Given the description of an element on the screen output the (x, y) to click on. 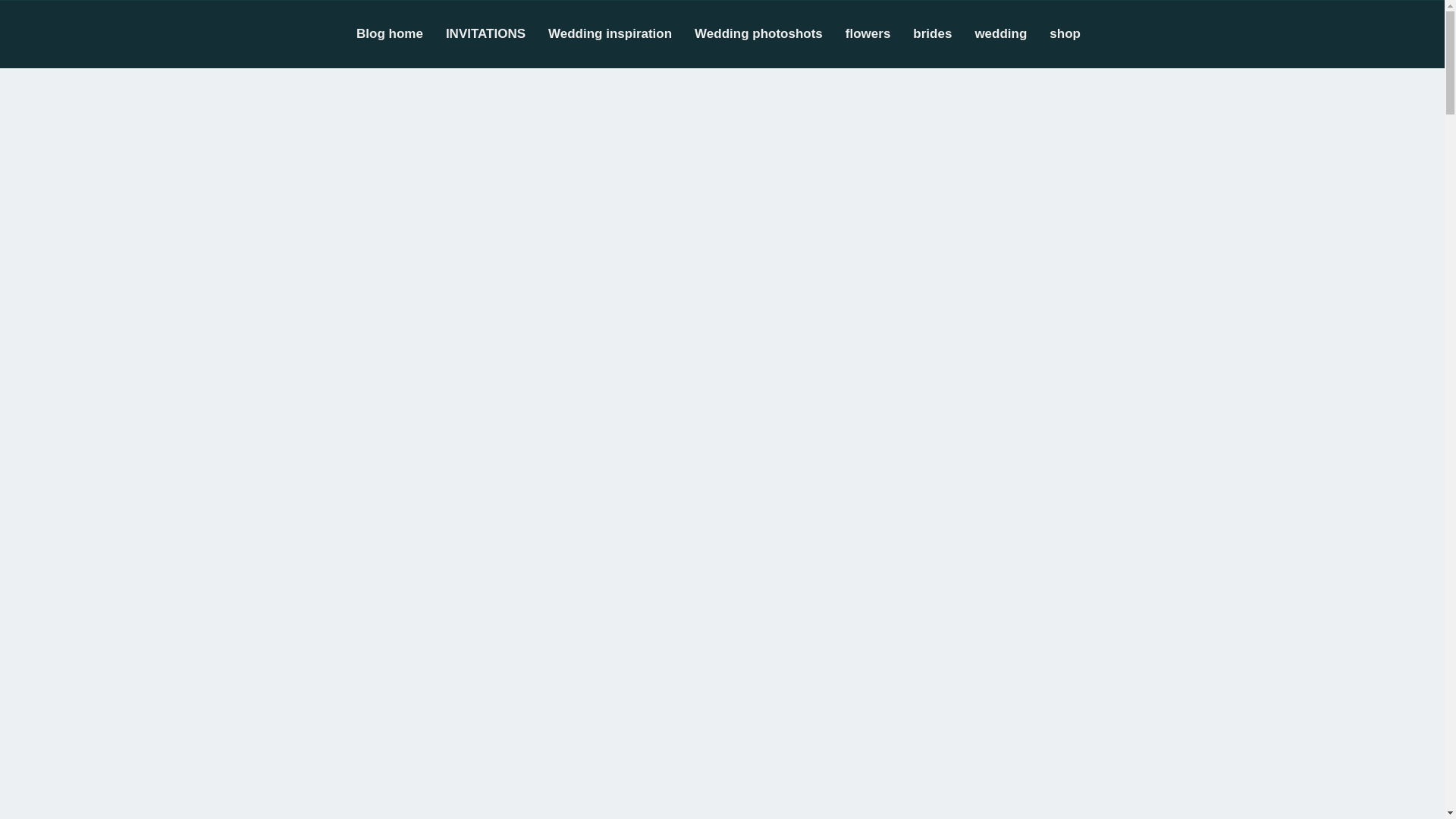
Blog home (400, 33)
INVITATIONS (496, 33)
shop (1076, 33)
flowers (879, 33)
Wedding inspiration (621, 33)
Wedding photoshots (769, 33)
wedding (1011, 33)
brides (943, 33)
